Given the description of an element on the screen output the (x, y) to click on. 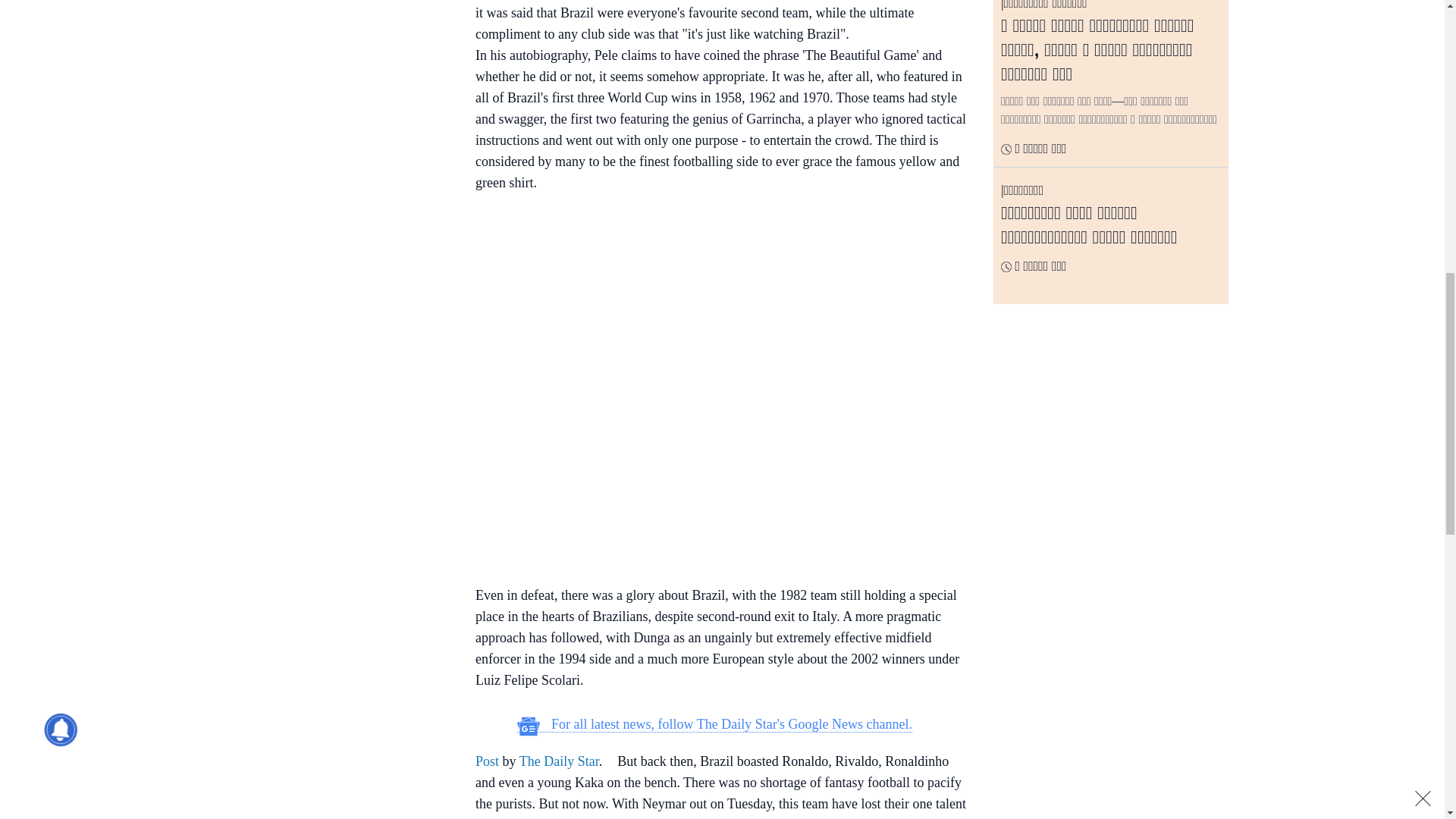
3rd party ad content (332, 102)
3rd party ad content (714, 237)
